Given the description of an element on the screen output the (x, y) to click on. 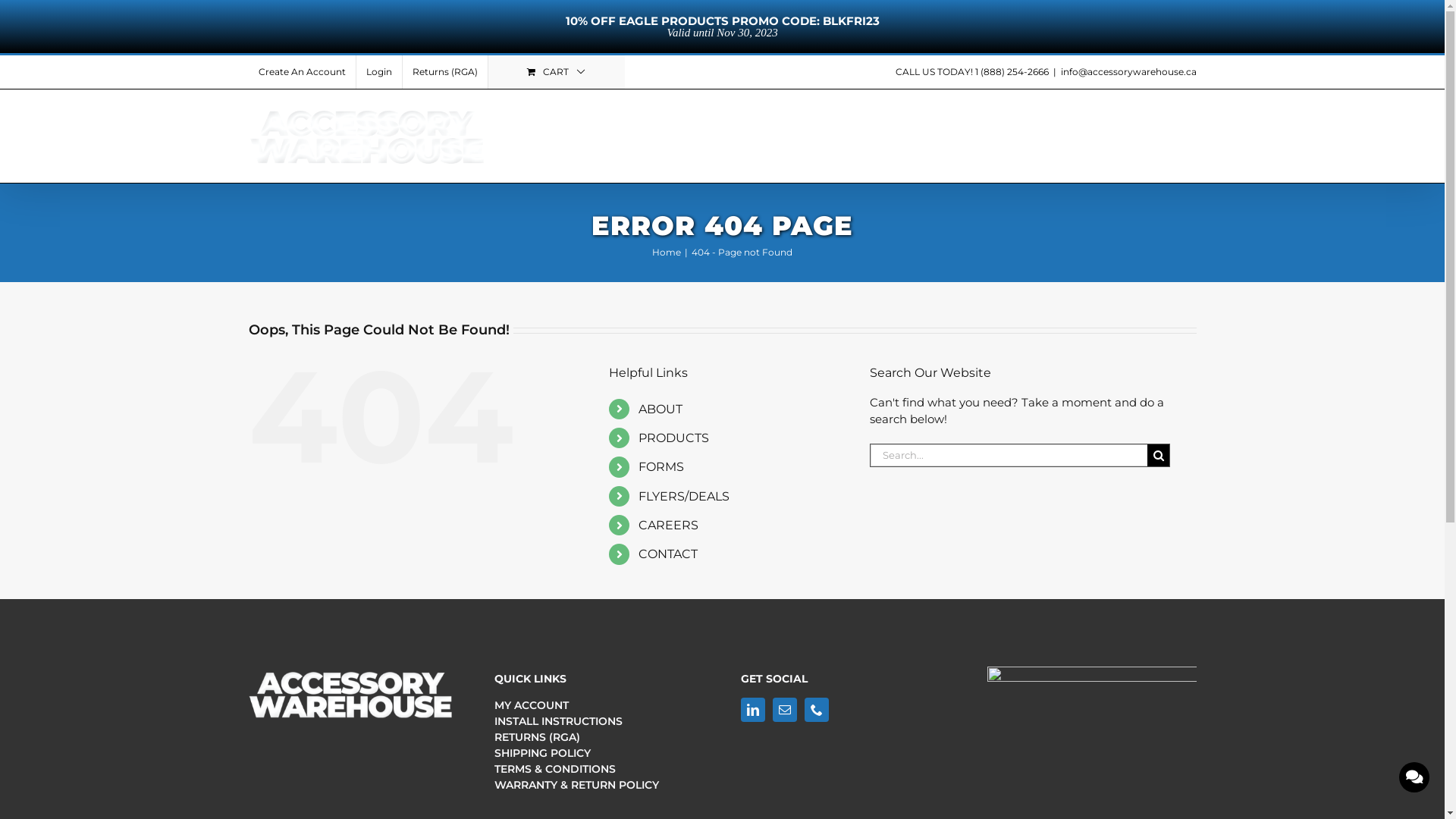
CAREERS Element type: text (668, 524)
Returns (RGA) Element type: text (443, 71)
CAREERS Element type: text (1035, 132)
FORMS Element type: text (661, 466)
TERMS & CONDITIONS Element type: text (598, 769)
Create An Account Element type: text (301, 71)
CONTACT Element type: text (667, 553)
INSTALL INSTRUCTIONS Element type: text (598, 721)
Email Element type: hover (784, 709)
CONTACT Element type: text (1141, 132)
PRODUCTS Element type: text (698, 132)
FLYERS/DEALS Element type: text (683, 496)
RETURNS (RGA) Element type: text (598, 737)
Home Element type: text (666, 251)
PRODUCTS Element type: text (673, 437)
LinkedIn Element type: hover (752, 709)
ABOUT Element type: text (660, 408)
WARRANTY & RETURN POLICY Element type: text (598, 785)
SHIPPING POLICY Element type: text (598, 753)
Login Element type: text (378, 71)
MY ACCOUNT Element type: text (598, 705)
CART Element type: text (556, 71)
info@accessorywarehouse.ca Element type: text (1127, 71)
FLYERS/DEALS Element type: text (916, 132)
Phone Element type: hover (816, 709)
FORMS Element type: text (802, 132)
ABOUT Element type: text (593, 132)
